Given the description of an element on the screen output the (x, y) to click on. 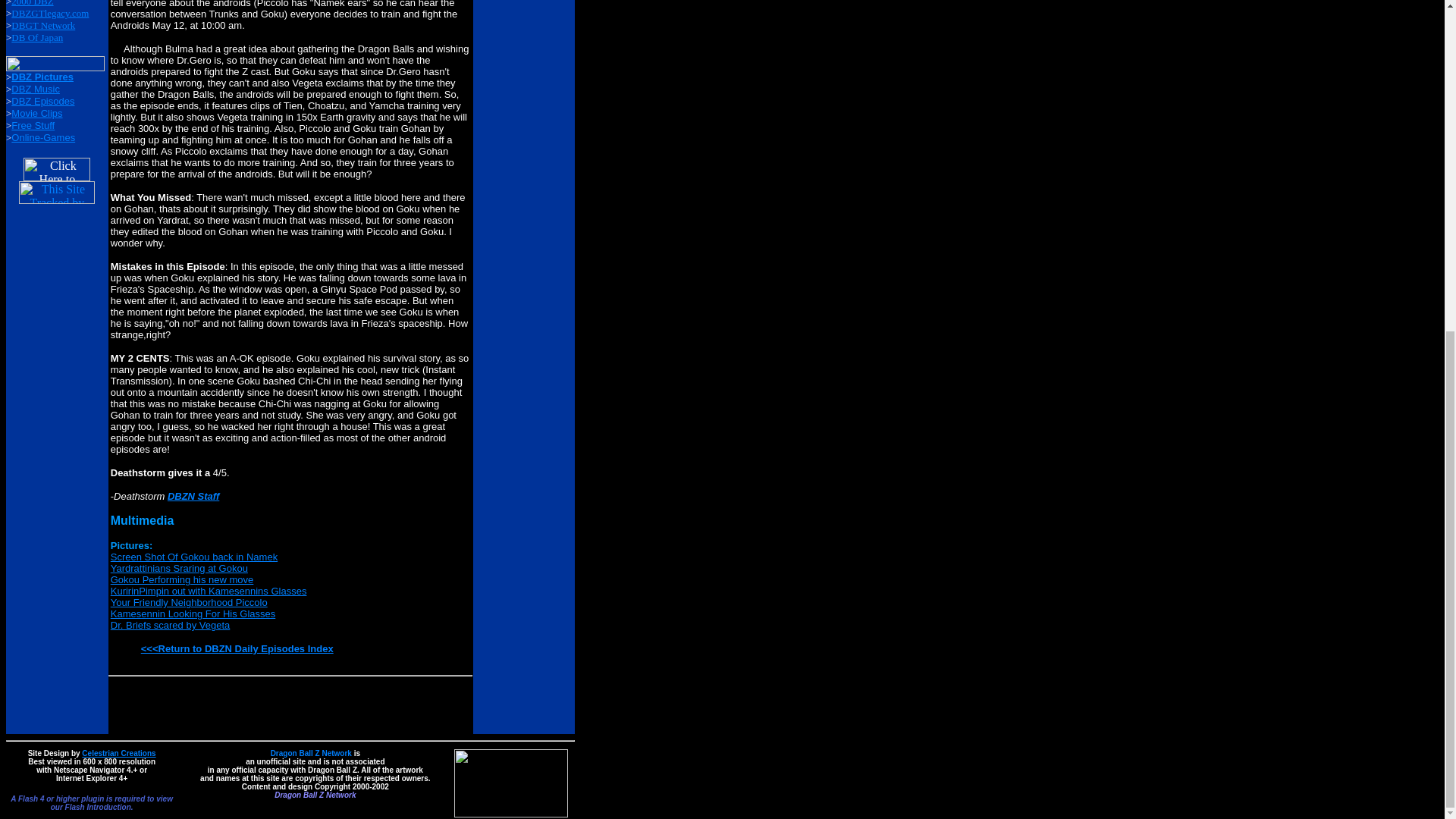
DBGT Network (43, 25)
Online-Games (43, 137)
DBZGTlegacy.com (49, 12)
Free Stuff (33, 125)
DBZ Music (35, 89)
DBZ Pictures (42, 76)
DBZ Episodes (42, 101)
2000 DBZ (31, 3)
Movie Clips (36, 112)
DB Of Japan (36, 37)
